Given the description of an element on the screen output the (x, y) to click on. 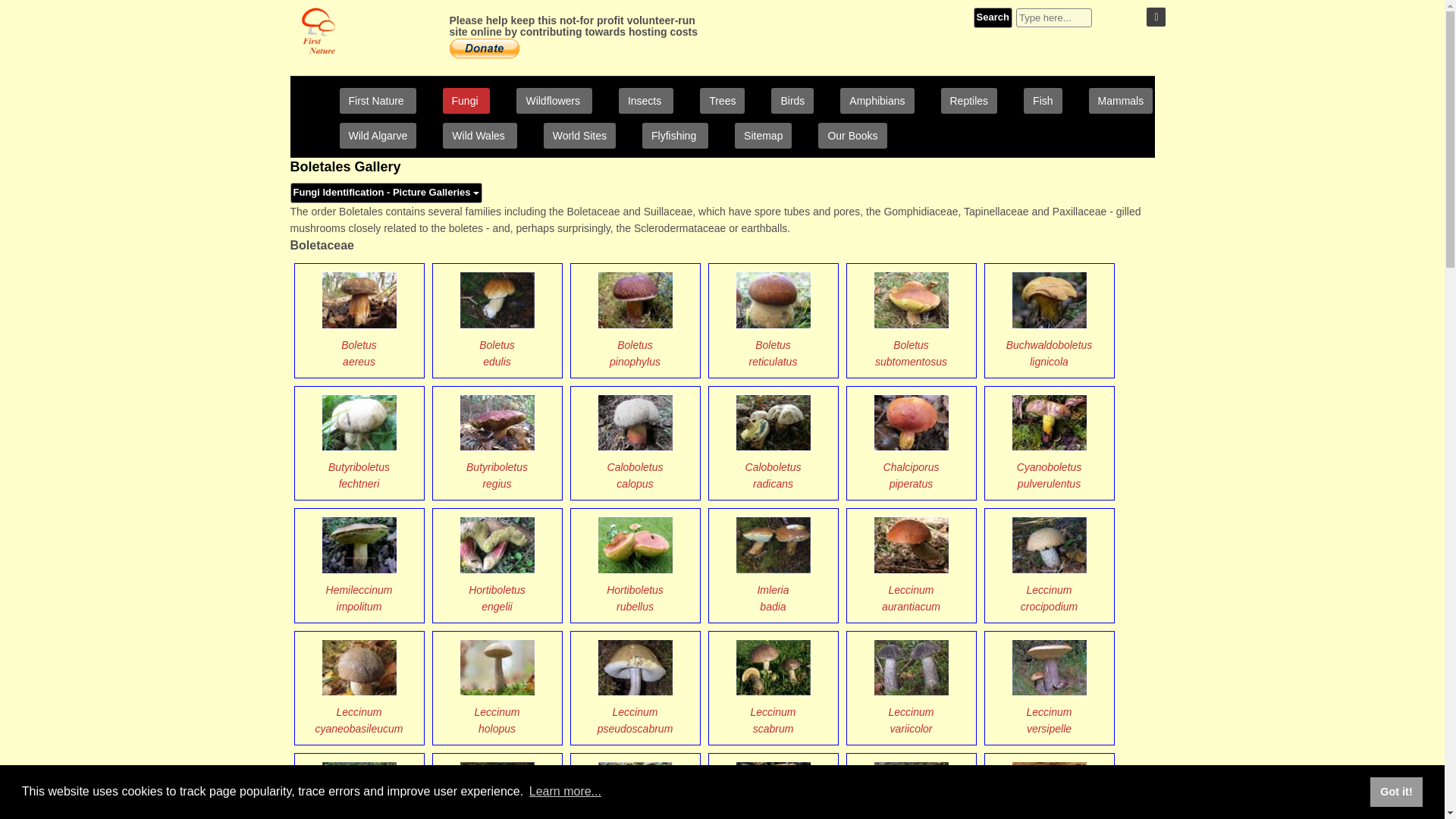
First Nature (377, 100)
Search (992, 17)
Got it! (1396, 791)
Insects (645, 100)
Search (992, 17)
Learn more... (565, 791)
Fungi (466, 100)
PayPal - The safer, easier way to pay online! (483, 48)
Wildflowers (553, 100)
